Given the description of an element on the screen output the (x, y) to click on. 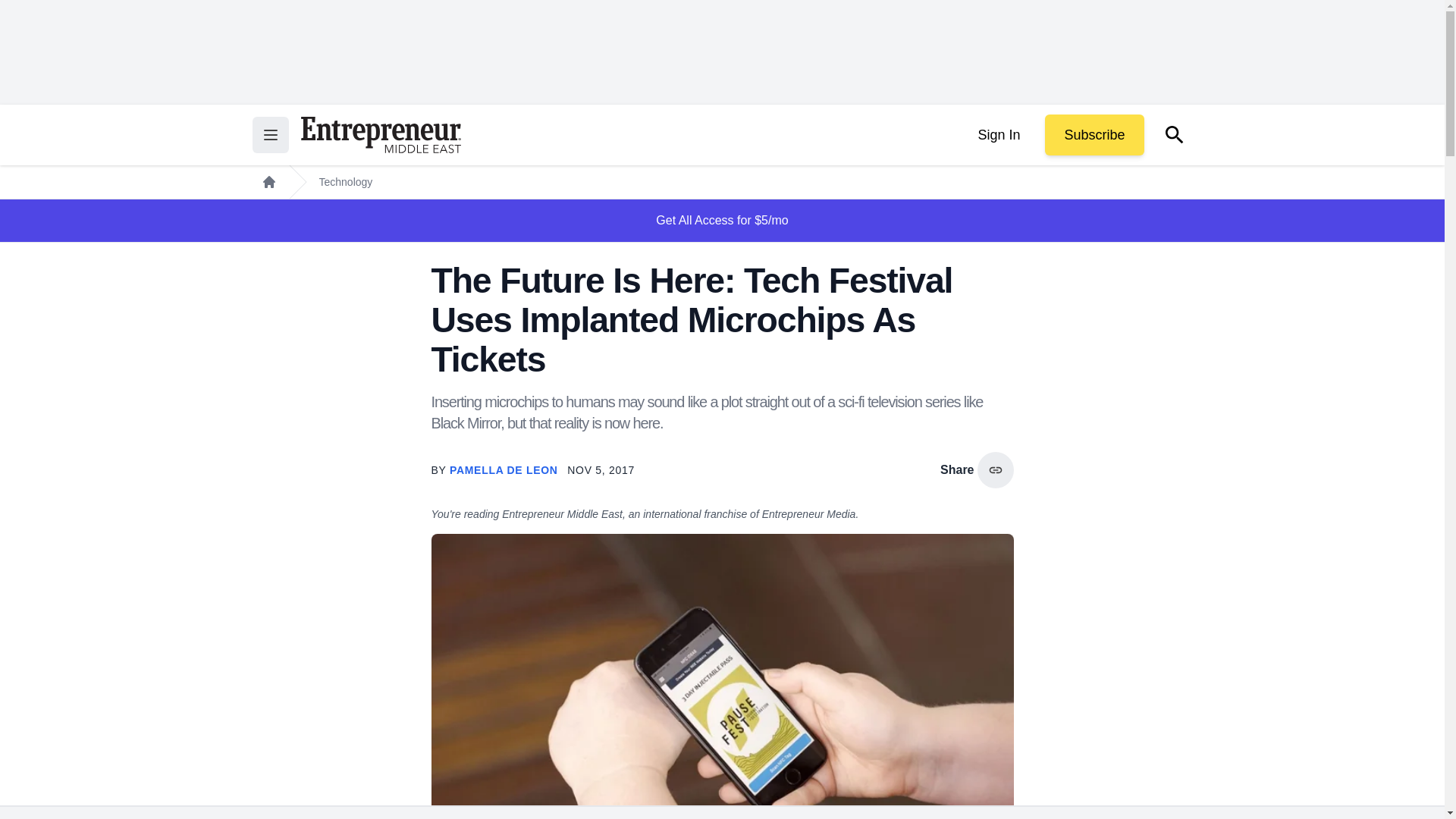
Return to the home page (380, 135)
Subscribe (1093, 134)
Sign In (998, 134)
copy (994, 470)
